Given the description of an element on the screen output the (x, y) to click on. 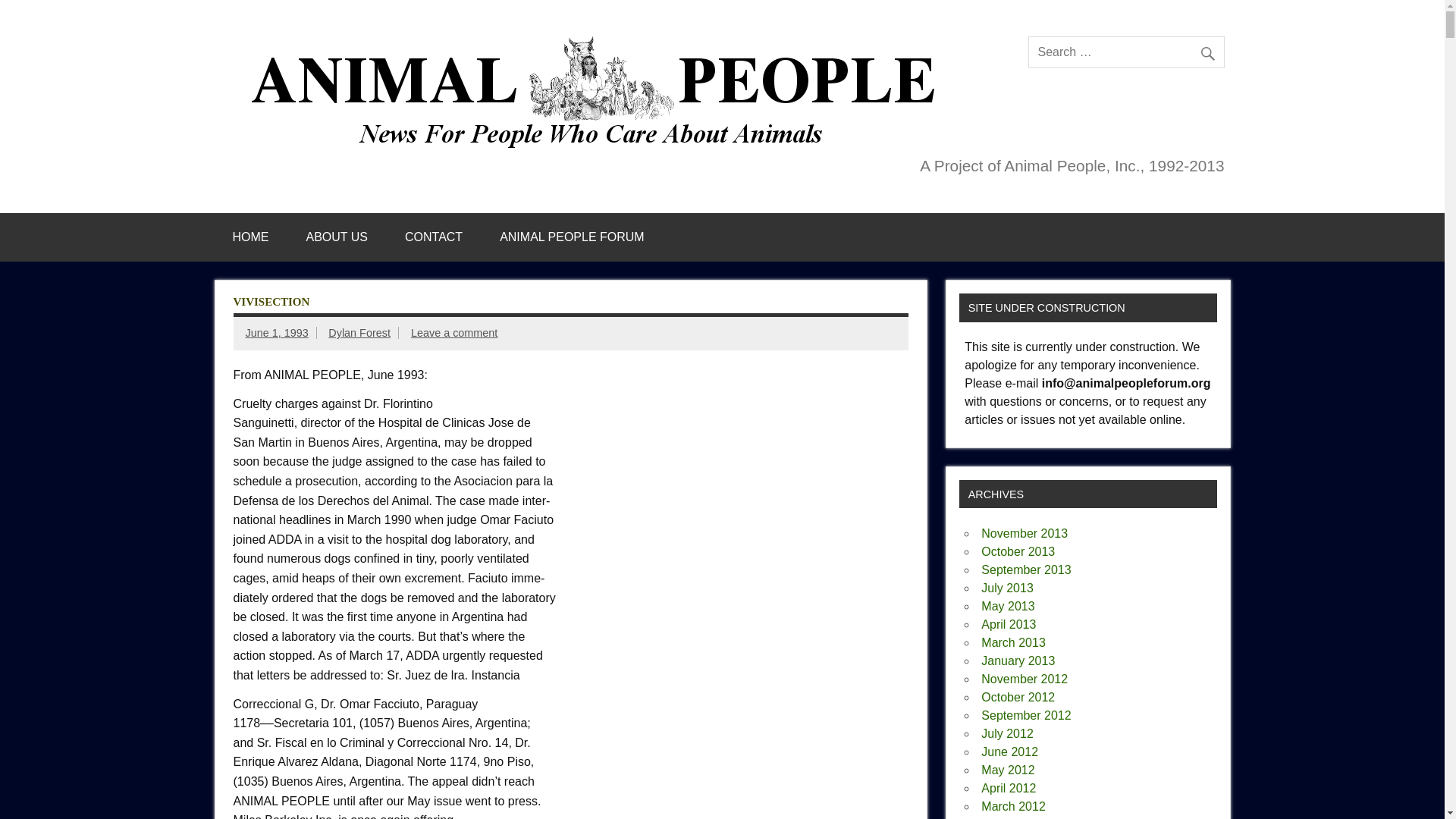
January 2012 (1017, 818)
May 2013 (1007, 605)
ANIMAL PEOPLE NEWS (598, 42)
April 2013 (1008, 624)
May 2012 (1007, 769)
July 2013 (1007, 587)
September 2012 (1025, 715)
March 2013 (1013, 642)
CONTACT (433, 236)
April 2012 (1008, 788)
